Given the description of an element on the screen output the (x, y) to click on. 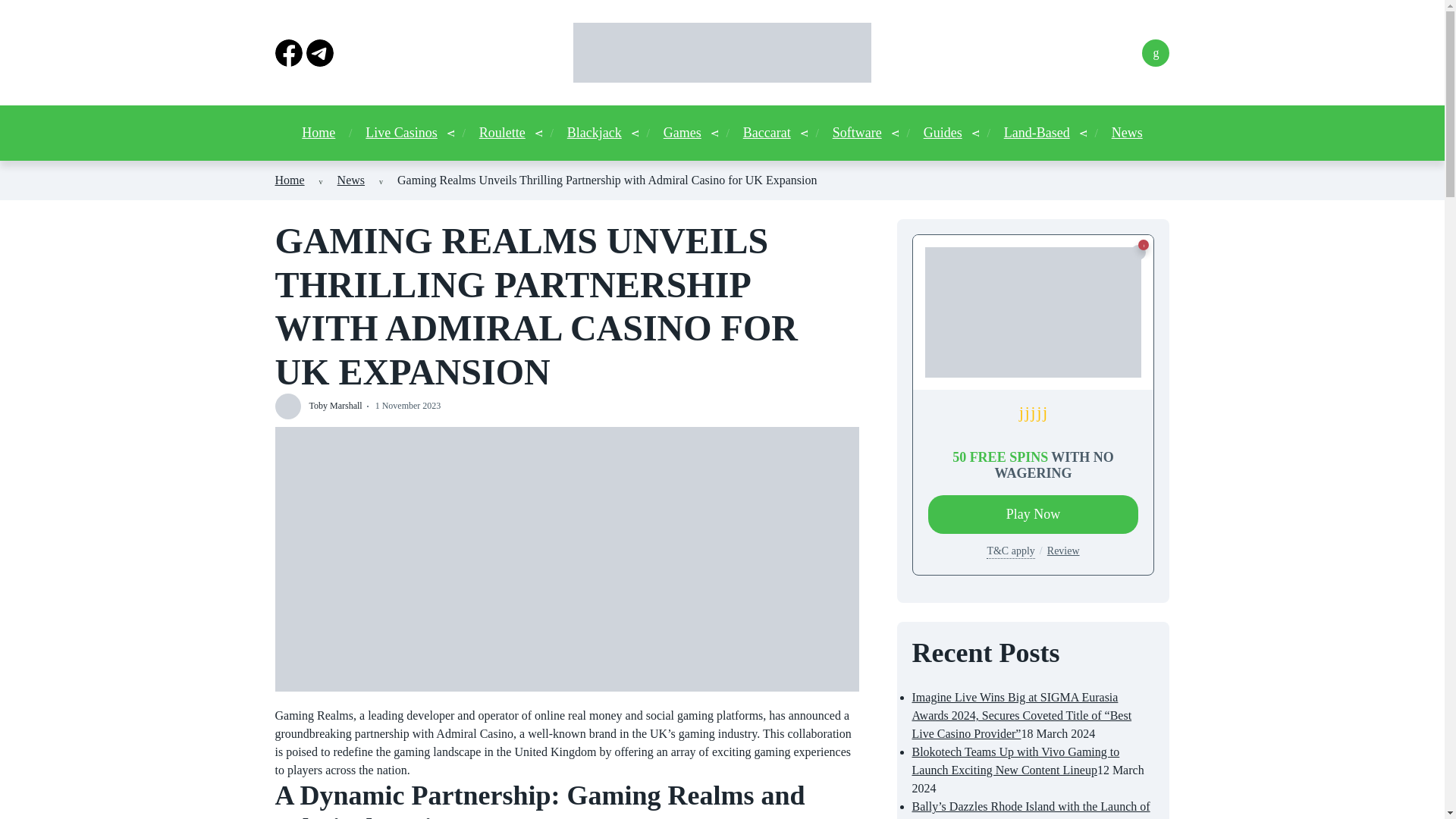
Roulette (502, 132)
News (351, 179)
Home (289, 179)
This Post is not available on China (1138, 252)
Home (317, 132)
Live Casinos (401, 132)
